Given the description of an element on the screen output the (x, y) to click on. 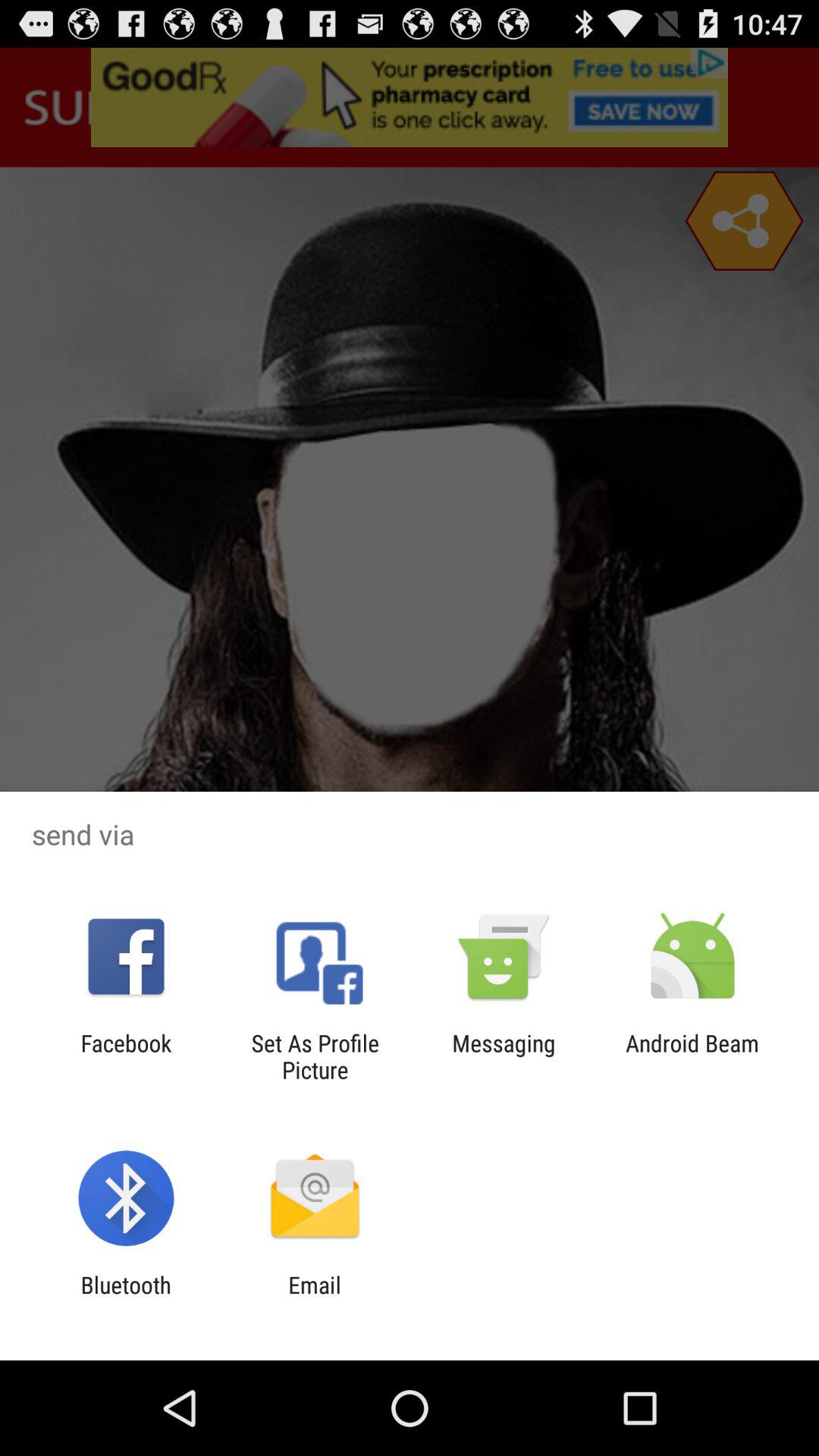
launch item to the right of messaging (692, 1056)
